Given the description of an element on the screen output the (x, y) to click on. 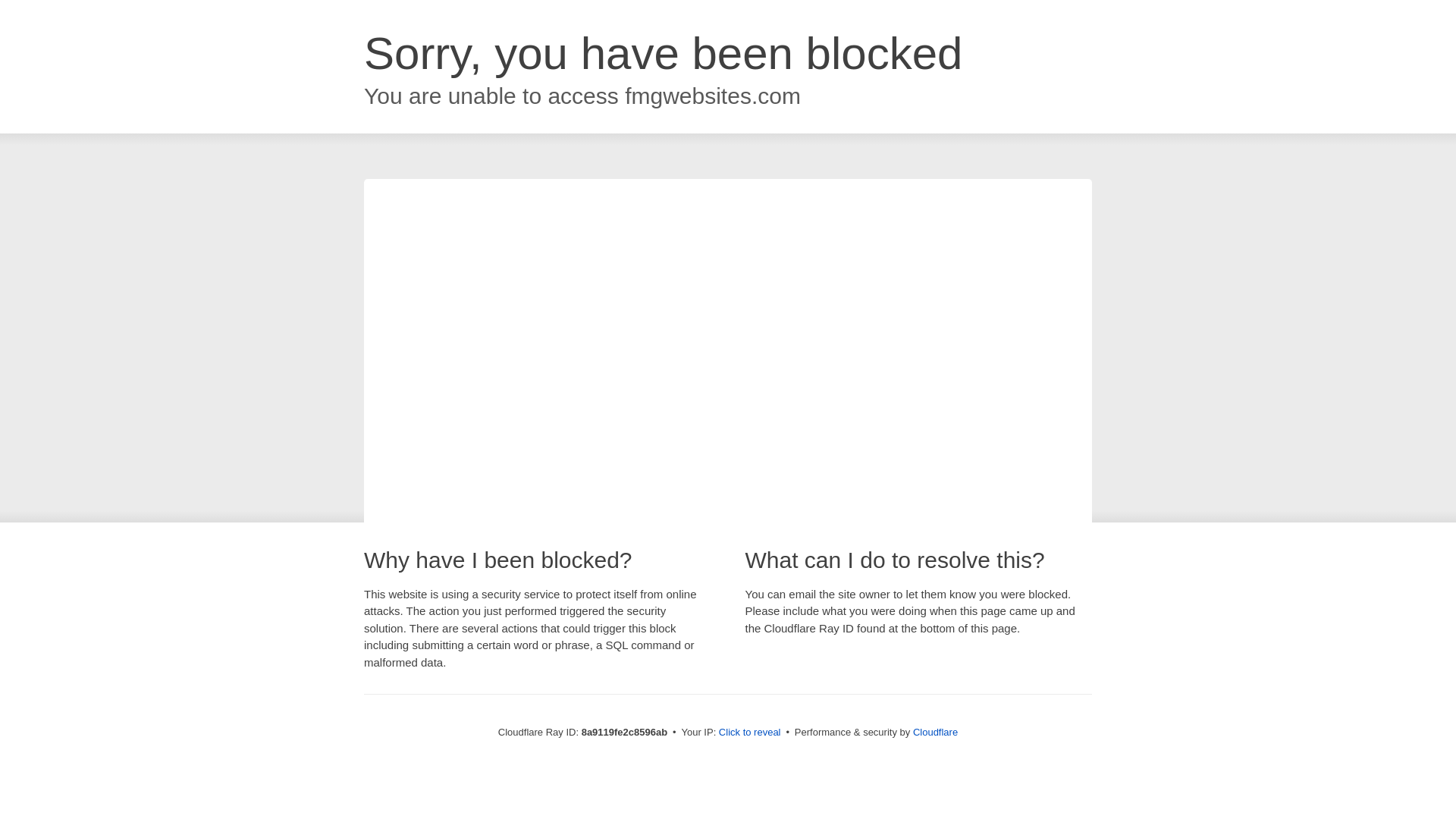
Click to reveal (749, 732)
Cloudflare (935, 731)
